Given the description of an element on the screen output the (x, y) to click on. 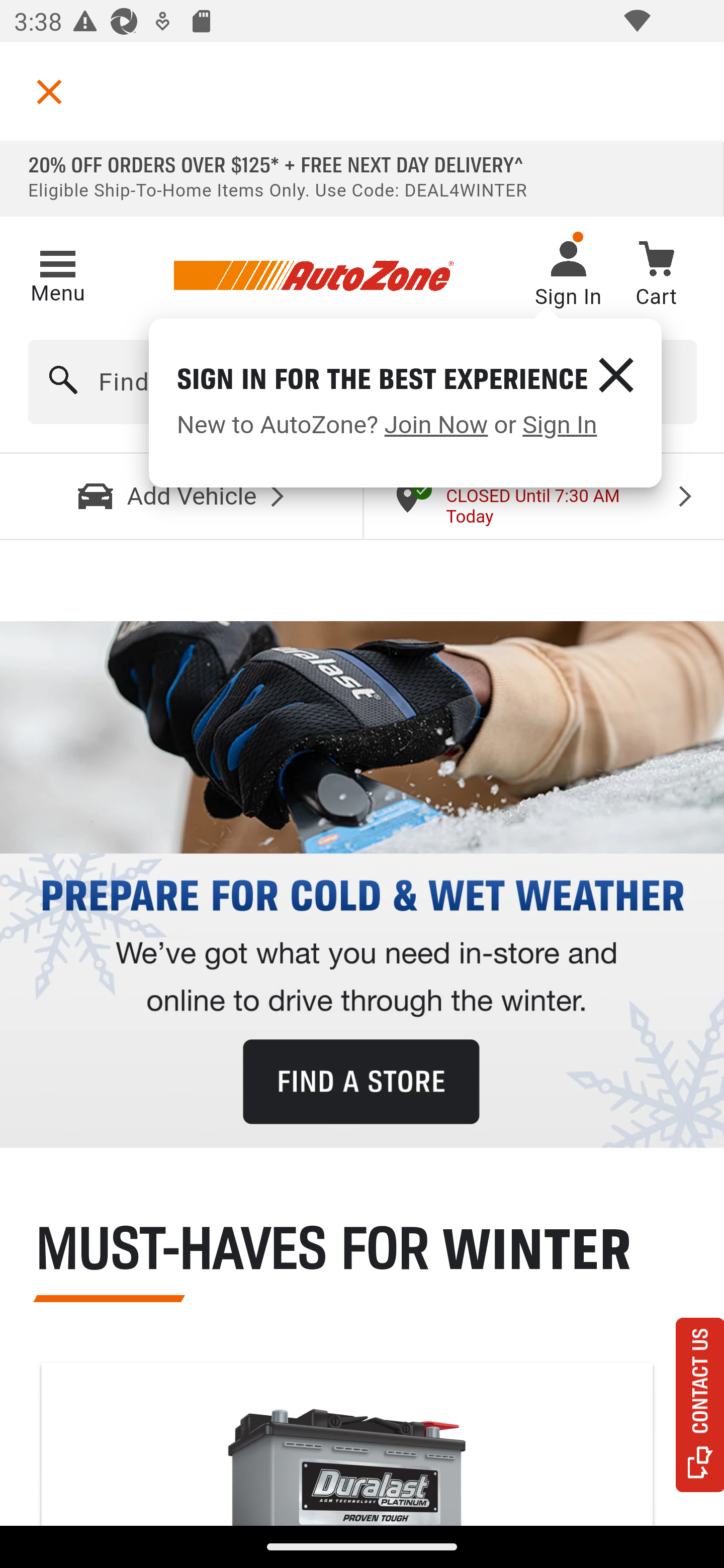
 (49, 91)
Menu (57, 273)
Sign In (567, 276)
AutoZone Logo (links to homepage) (312, 276)
shopping cart 0 items (655, 277)
Search (63, 382)
✕ (615, 373)
Join Now (436, 424)
Sign In (559, 424)
Add Vehicle (182, 495)
Contact Us (699, 1404)
